Given the description of an element on the screen output the (x, y) to click on. 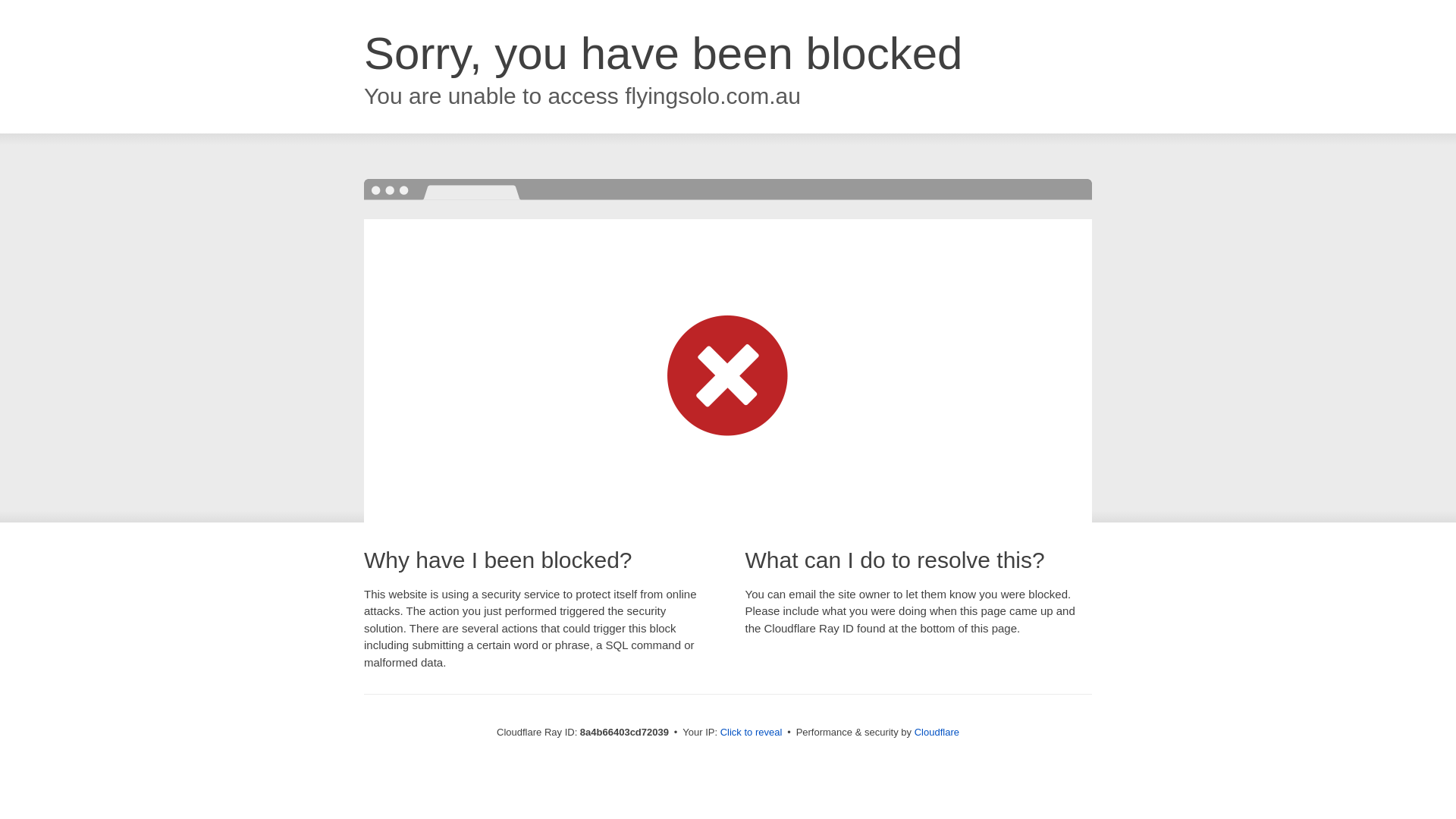
Cloudflare (936, 731)
Click to reveal (751, 732)
